Given the description of an element on the screen output the (x, y) to click on. 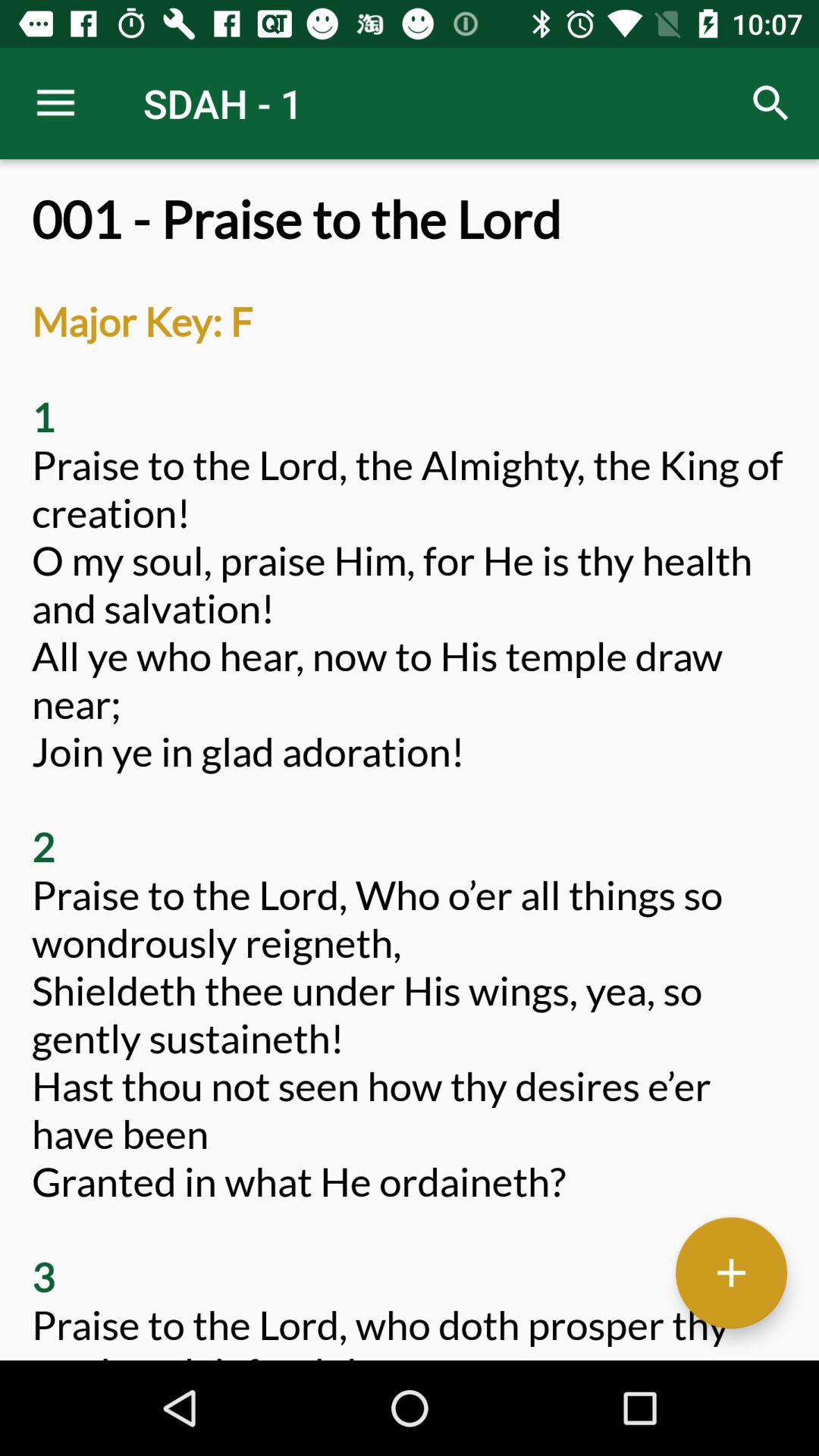
button to add content (731, 1272)
